Given the description of an element on the screen output the (x, y) to click on. 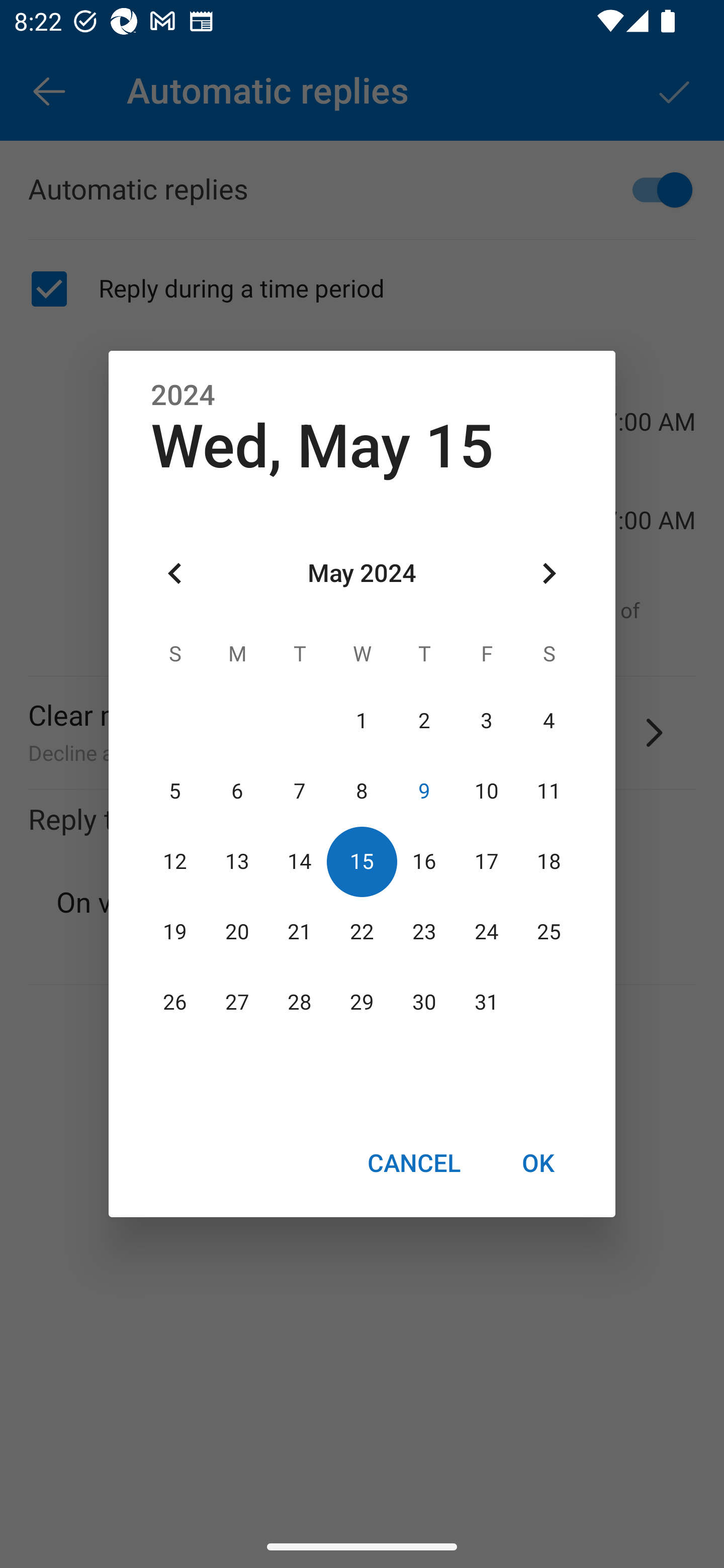
2024 (182, 395)
Wed, May 15 (322, 446)
Previous month (174, 573)
Next month (548, 573)
1 01 May 2024 (361, 720)
2 02 May 2024 (424, 720)
3 03 May 2024 (486, 720)
4 04 May 2024 (548, 720)
5 05 May 2024 (175, 790)
6 06 May 2024 (237, 790)
7 07 May 2024 (299, 790)
8 08 May 2024 (361, 790)
9 09 May 2024 (424, 790)
10 10 May 2024 (486, 790)
11 11 May 2024 (548, 790)
12 12 May 2024 (175, 861)
13 13 May 2024 (237, 861)
14 14 May 2024 (299, 861)
15 15 May 2024 (361, 861)
16 16 May 2024 (424, 861)
17 17 May 2024 (486, 861)
18 18 May 2024 (548, 861)
19 19 May 2024 (175, 931)
20 20 May 2024 (237, 931)
21 21 May 2024 (299, 931)
22 22 May 2024 (361, 931)
23 23 May 2024 (424, 931)
24 24 May 2024 (486, 931)
25 25 May 2024 (548, 931)
26 26 May 2024 (175, 1002)
27 27 May 2024 (237, 1002)
28 28 May 2024 (299, 1002)
29 29 May 2024 (361, 1002)
30 30 May 2024 (424, 1002)
31 31 May 2024 (486, 1002)
CANCEL (413, 1162)
OK (537, 1162)
